Given the description of an element on the screen output the (x, y) to click on. 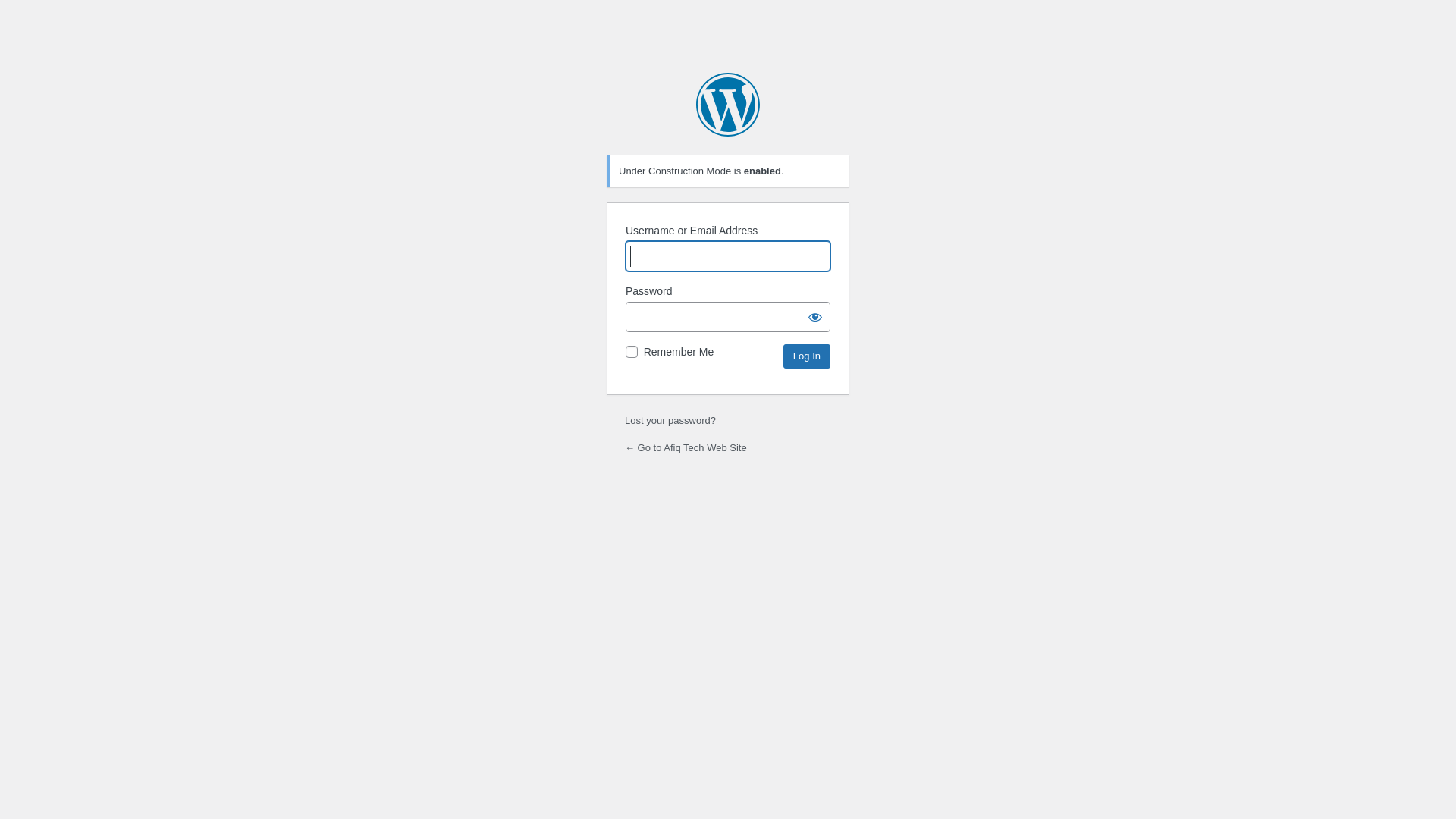
Log In Element type: text (806, 356)
Lost your password? Element type: text (669, 420)
Powered by WordPress Element type: text (727, 104)
